Given the description of an element on the screen output the (x, y) to click on. 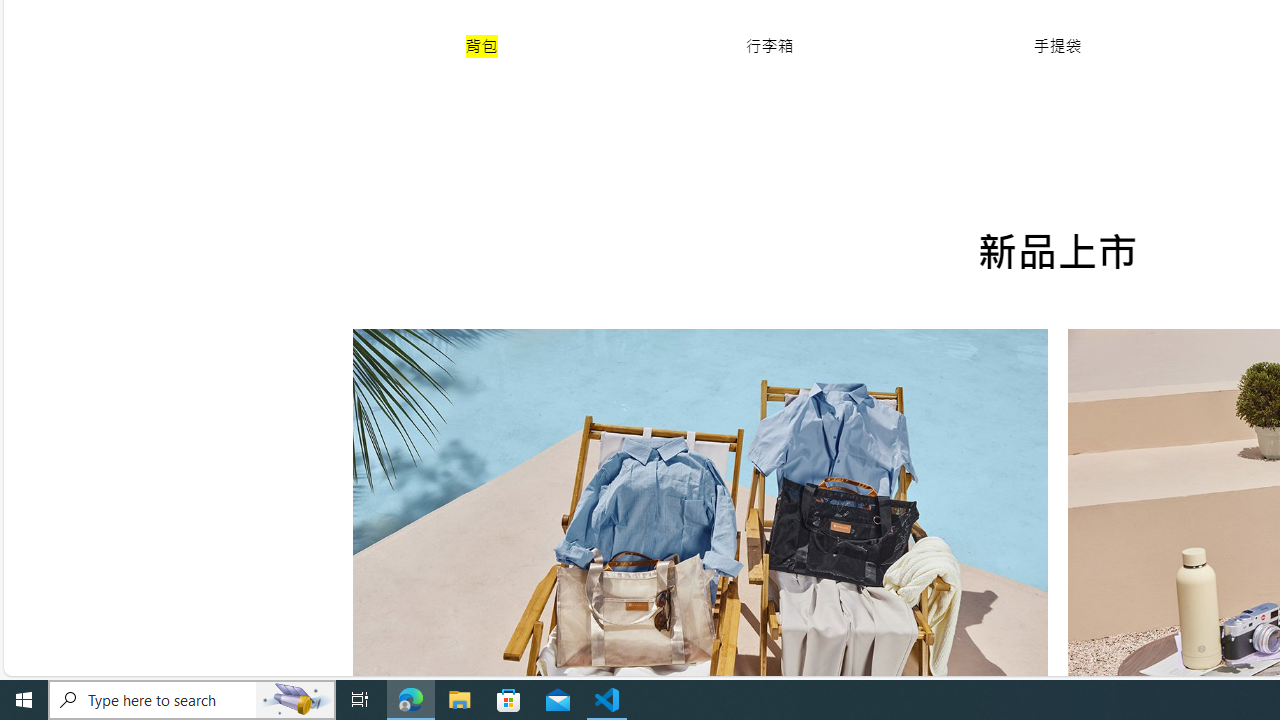
Previous (395, 651)
Class: flickity-button-icon (395, 561)
